Given the description of an element on the screen output the (x, y) to click on. 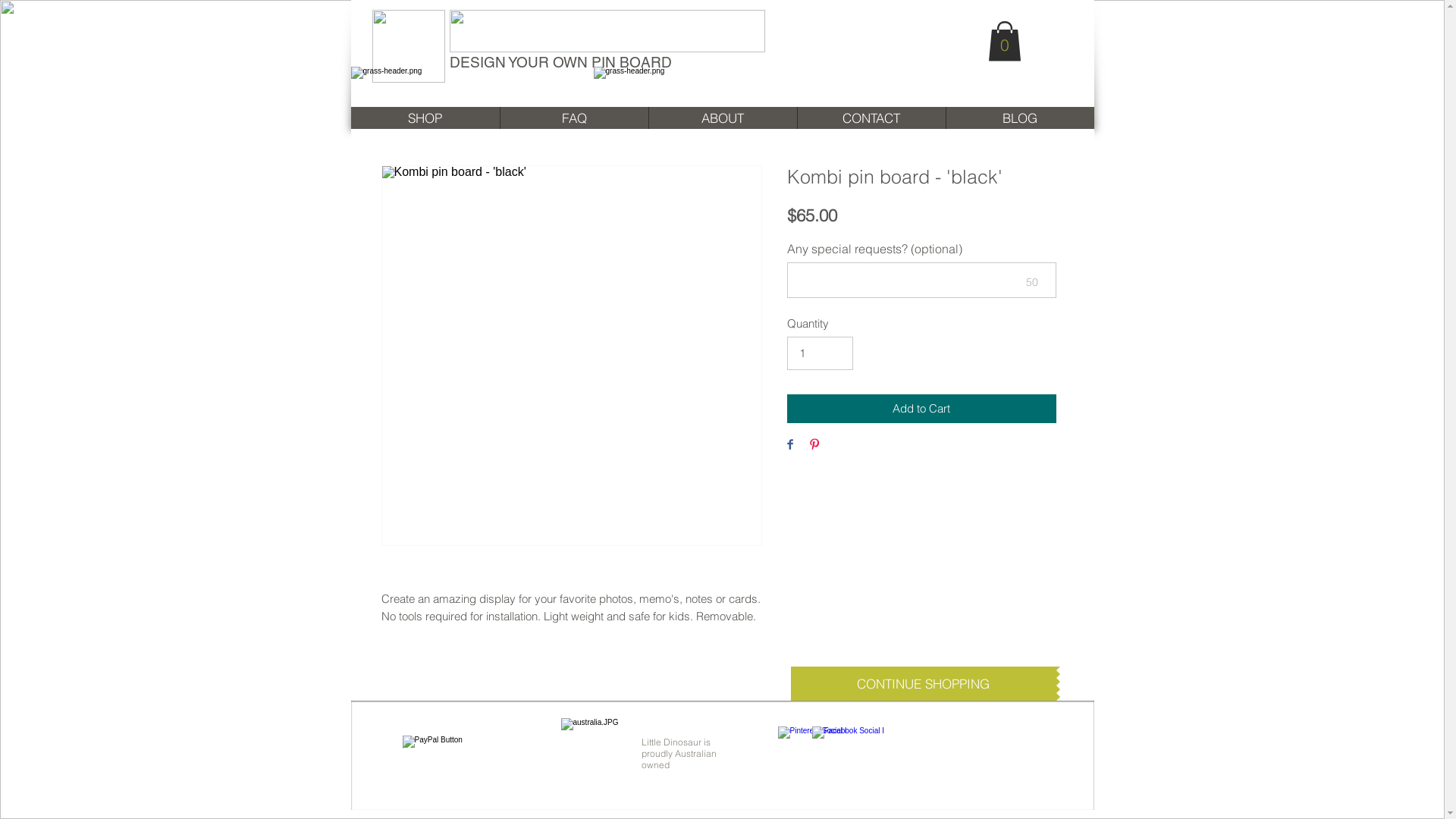
SHOP Element type: text (424, 117)
0 Element type: text (1003, 41)
FAQ Element type: text (572, 117)
Add to Cart Element type: text (921, 408)
CONTINUE SHOPPING Element type: text (922, 683)
ABOUT Element type: text (721, 117)
CONTACT Element type: text (870, 117)
DESIGN YOUR OWN PIN BOARD Element type: text (559, 61)
BLOG Element type: text (1018, 117)
